Given the description of an element on the screen output the (x, y) to click on. 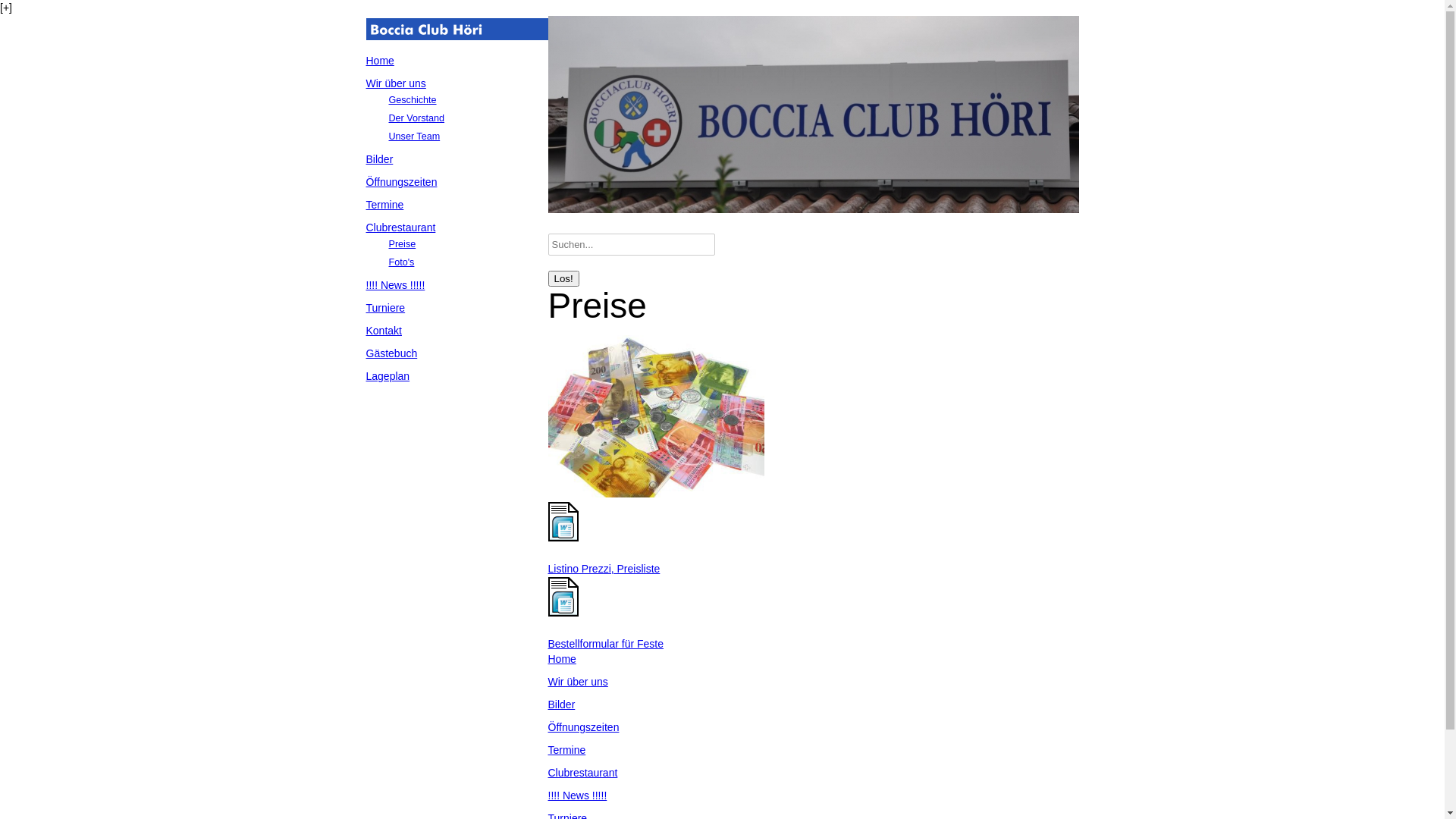
Lageplan Element type: text (387, 376)
Turniere Element type: text (384, 307)
Termine Element type: text (384, 204)
Foto's Element type: text (401, 262)
Los! Element type: text (562, 278)
Listino Prezzi, Preisliste Element type: text (603, 568)
Geschichte Element type: text (412, 99)
Home Element type: text (379, 60)
Bilder Element type: text (560, 704)
!!!! News !!!!! Element type: text (576, 795)
Preise Element type: text (401, 243)
Clubrestaurant Element type: text (400, 227)
Der Vorstand Element type: text (416, 117)
Clubrestaurant Element type: text (582, 772)
!!!! News !!!!! Element type: text (394, 285)
Home Element type: text (561, 658)
Bilder Element type: text (378, 159)
Kontakt Element type: text (383, 330)
Termine Element type: text (566, 749)
Unser Team Element type: text (413, 136)
